Given the description of an element on the screen output the (x, y) to click on. 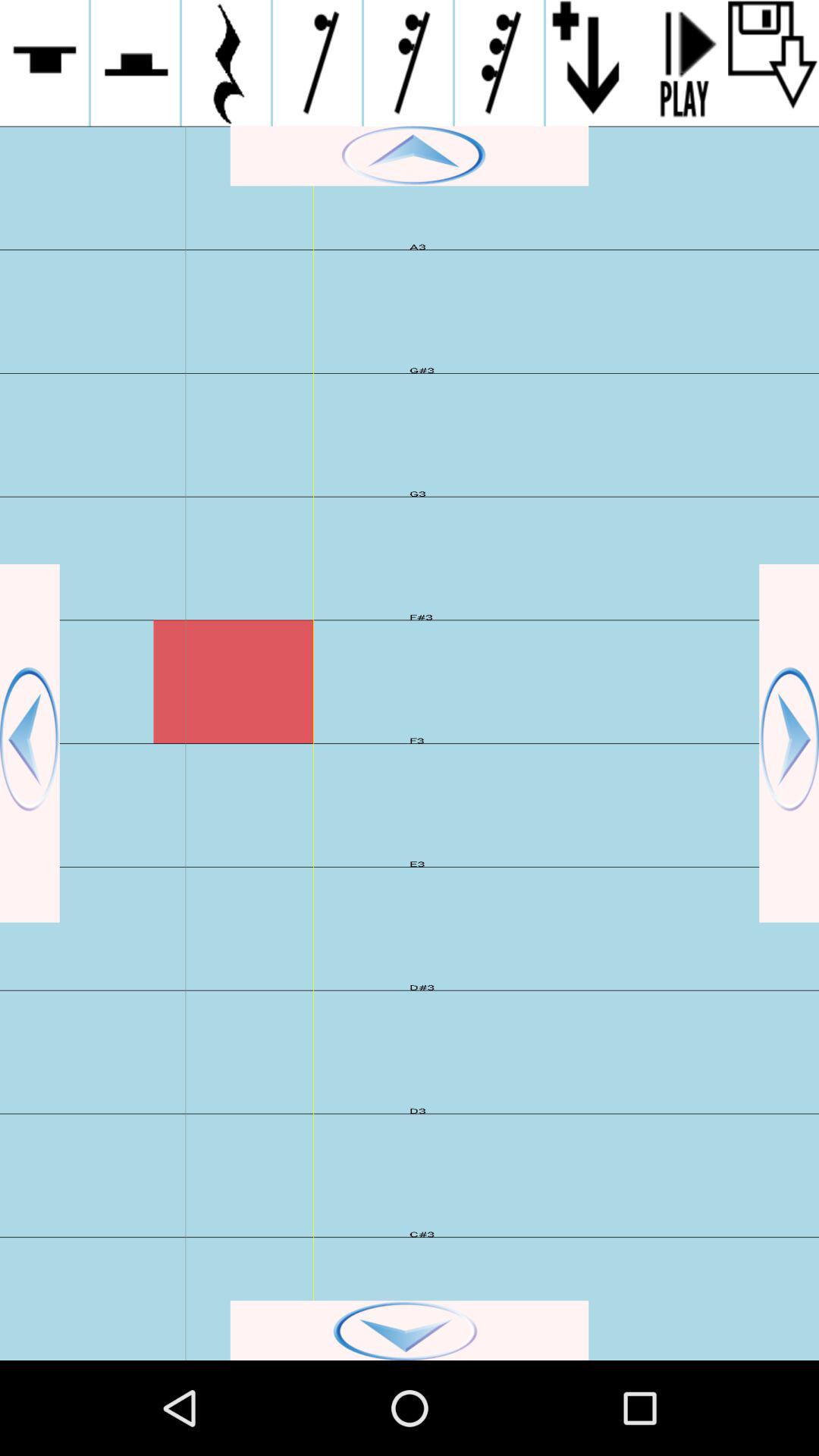
save file (773, 63)
